Given the description of an element on the screen output the (x, y) to click on. 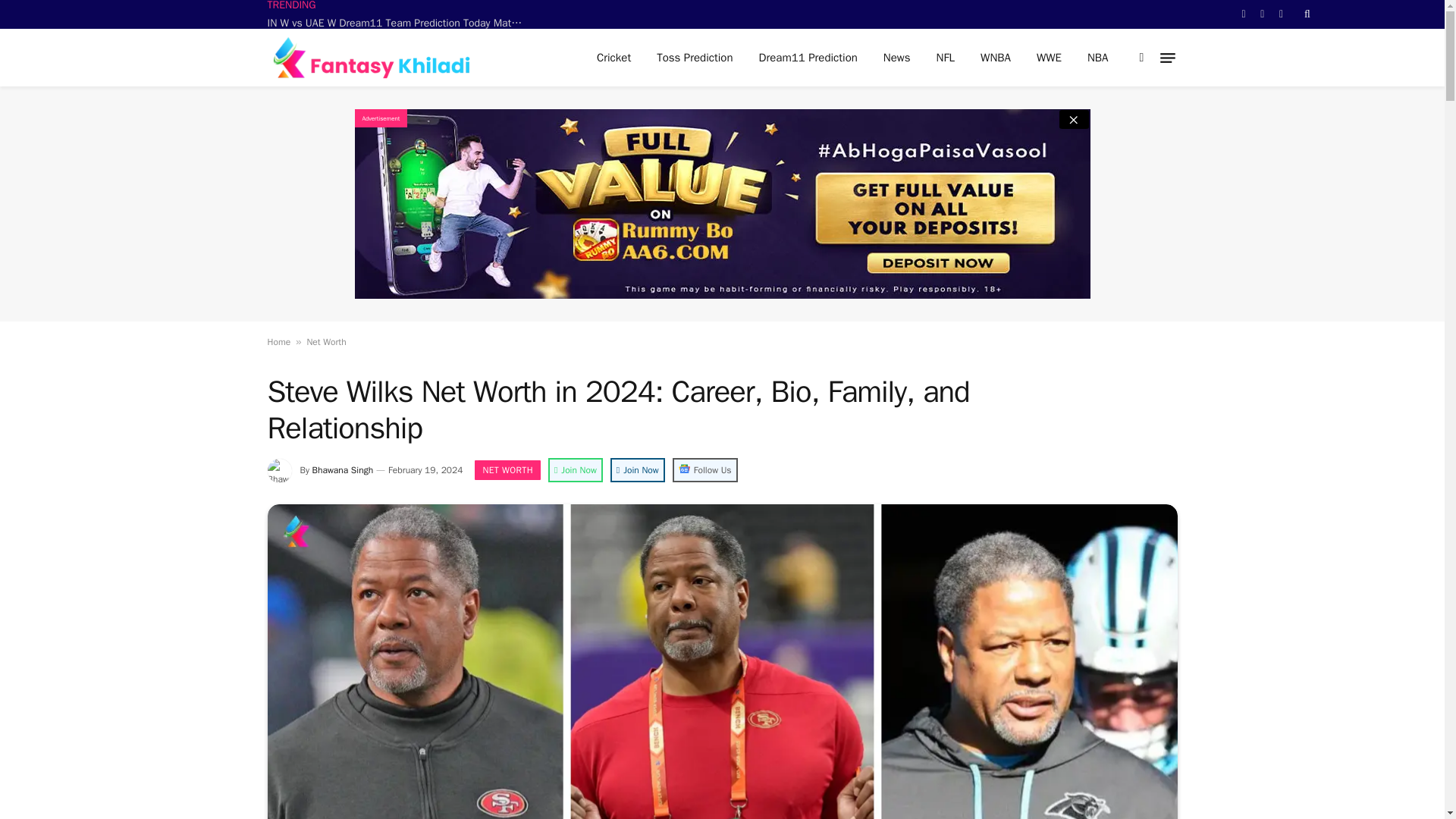
Join Now (637, 469)
Toss Prediction (694, 57)
NET WORTH (507, 469)
Cricket (613, 57)
Home (277, 341)
Fantasy Khiladi (380, 57)
Switch to Dark Design - easier on eyes. (1141, 57)
Follow Us (705, 469)
Dream11 Prediction (807, 57)
Bhawana Singh (343, 469)
Posts by Bhawana Singh (343, 469)
Join Now (575, 469)
Net Worth (325, 341)
News (896, 57)
